Given the description of an element on the screen output the (x, y) to click on. 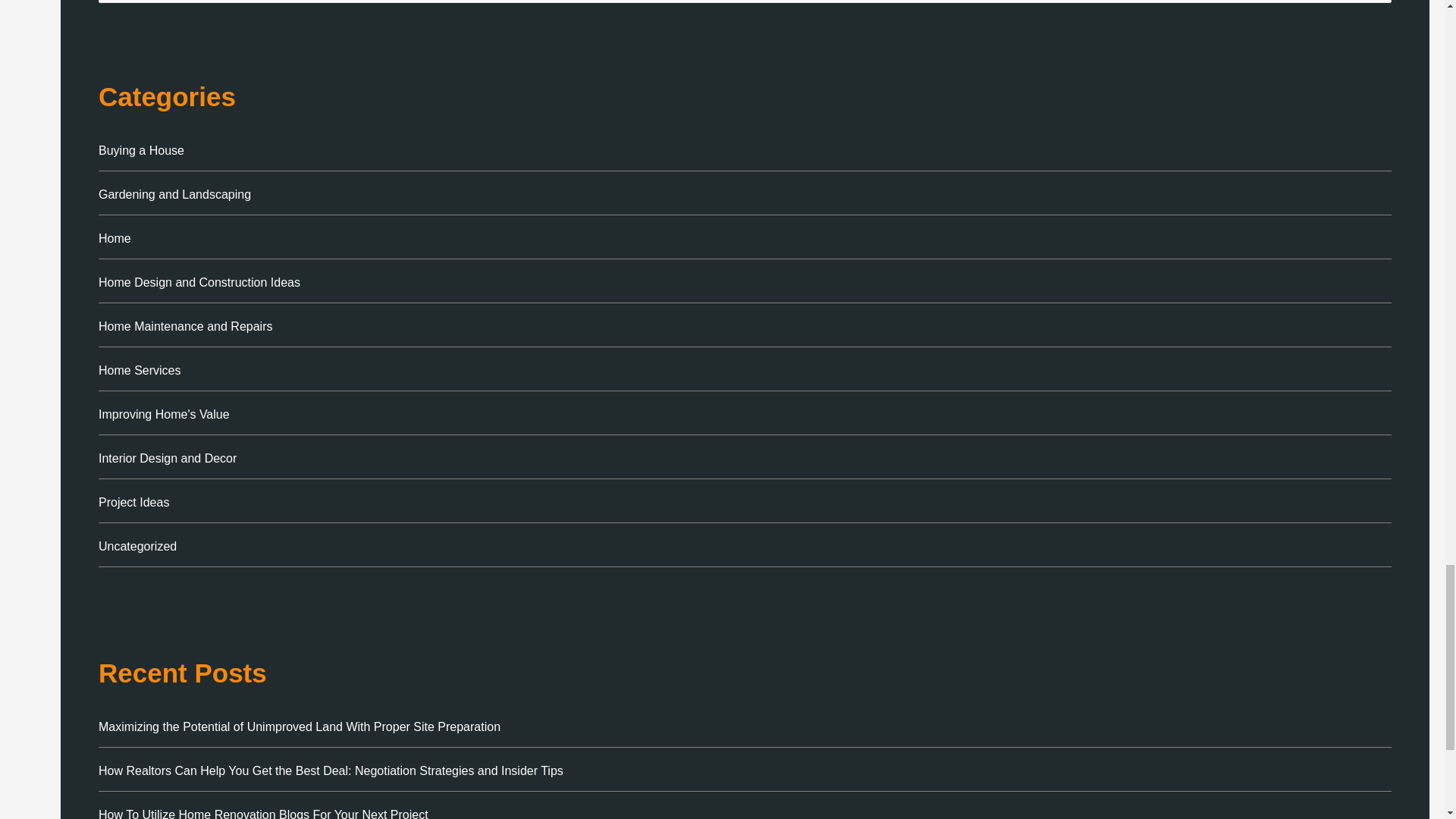
Search (1373, 6)
Buying a House (141, 150)
Search (1373, 6)
Search (1373, 6)
Gardening and Landscaping (174, 194)
Home (115, 237)
